Given the description of an element on the screen output the (x, y) to click on. 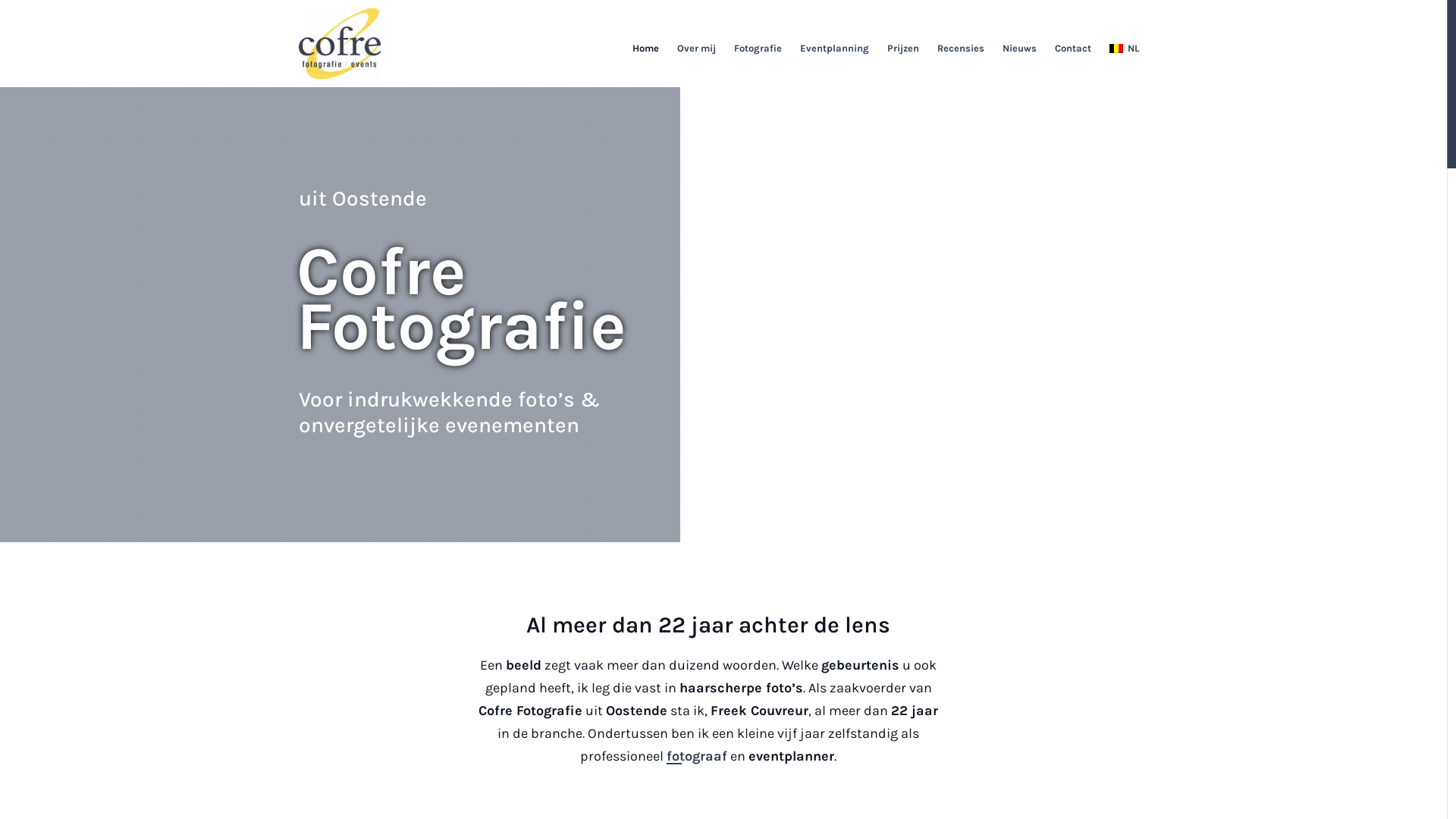
NL Element type: text (1124, 47)
Eventplanning Element type: text (834, 47)
Recensies Element type: text (960, 47)
Contact Element type: text (1072, 47)
Prijzen Element type: text (903, 47)
Fotografie Element type: text (757, 47)
fotograaf Element type: text (696, 755)
Nieuws Element type: text (1019, 47)
Home Element type: text (645, 47)
Over mij Element type: text (696, 47)
